Given the description of an element on the screen output the (x, y) to click on. 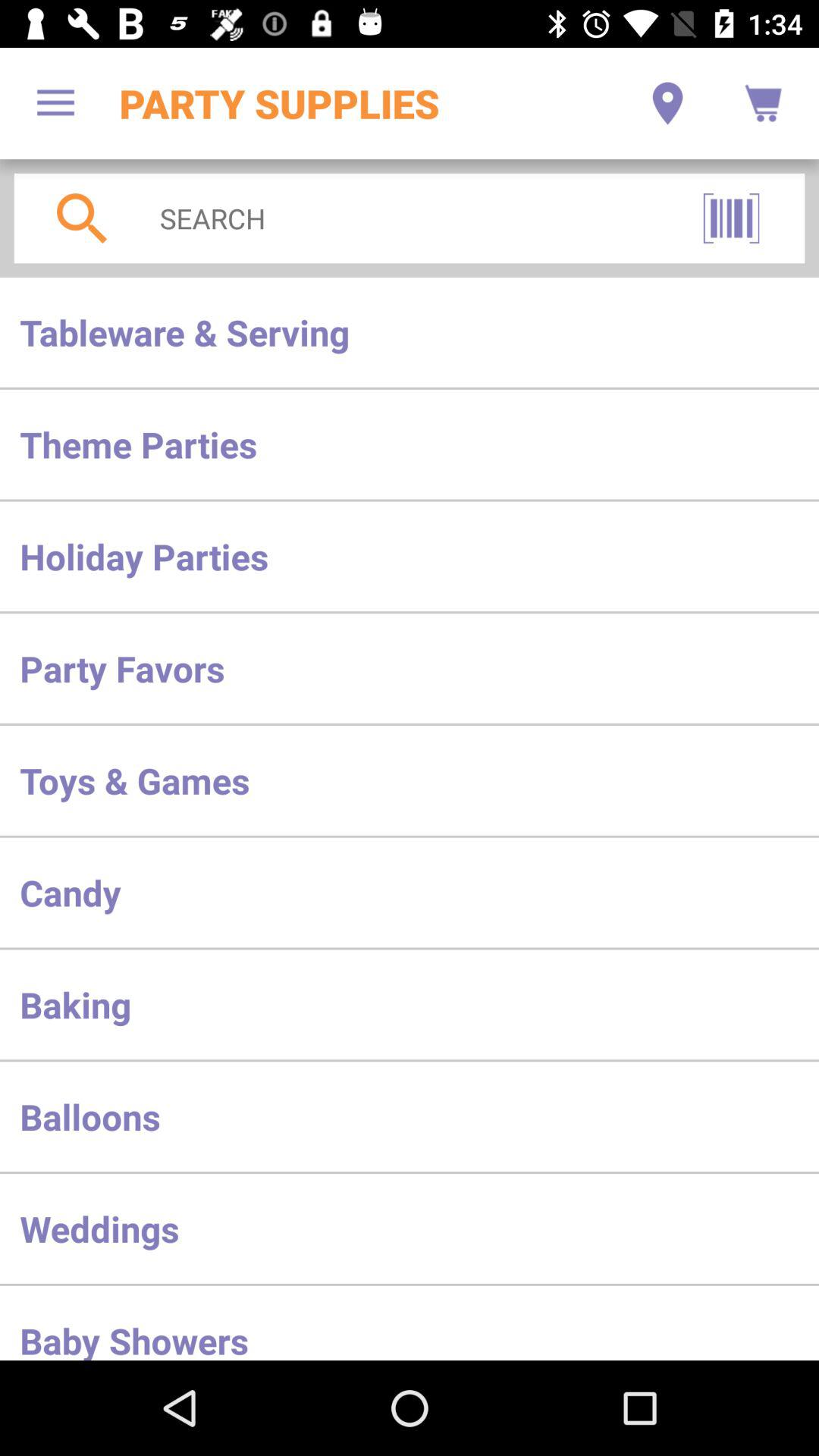
jump to the baking (409, 1004)
